Given the description of an element on the screen output the (x, y) to click on. 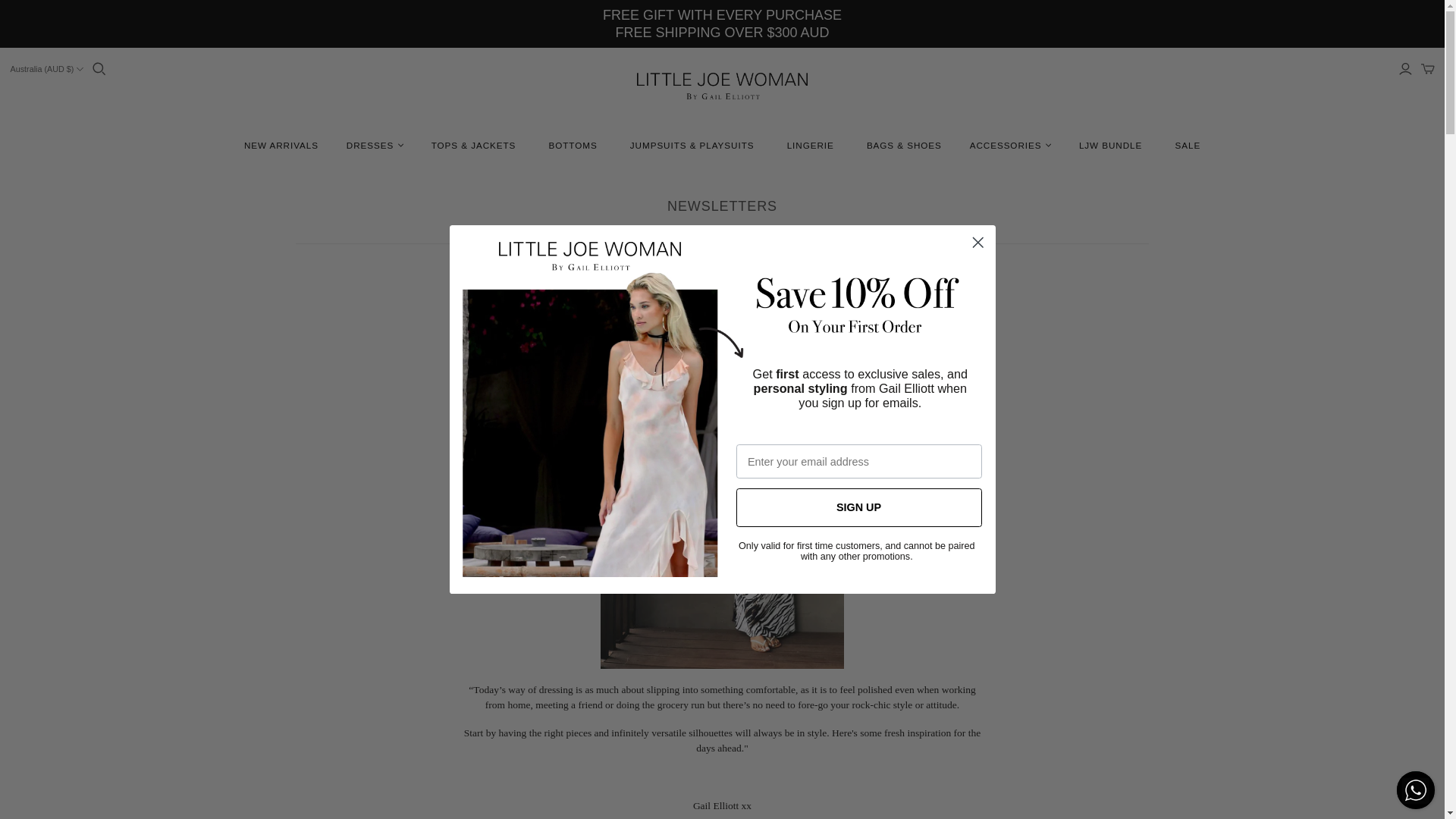
NEW ARRIVALS (312, 160)
